Given the description of an element on the screen output the (x, y) to click on. 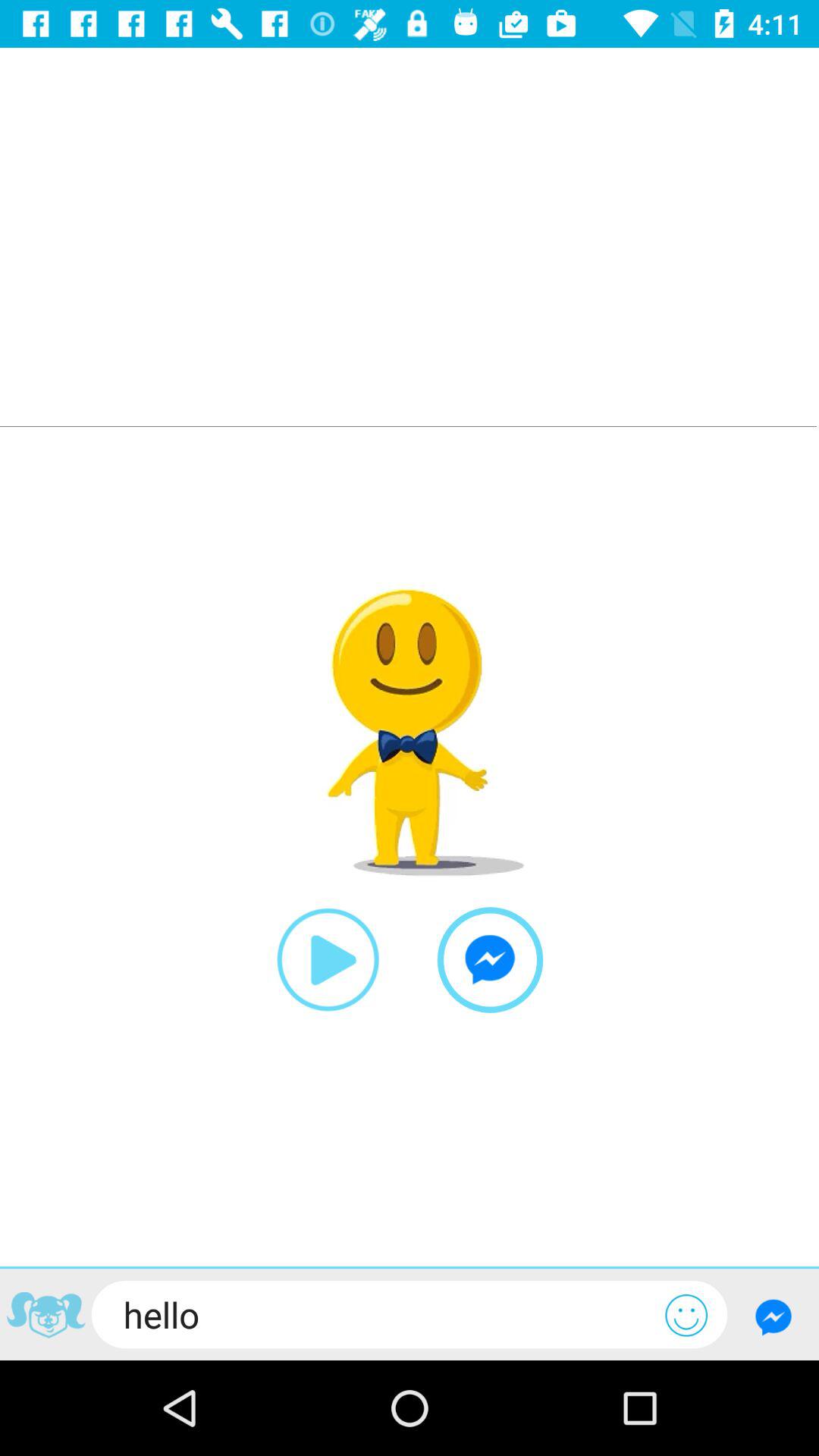
share (45, 1317)
